Given the description of an element on the screen output the (x, y) to click on. 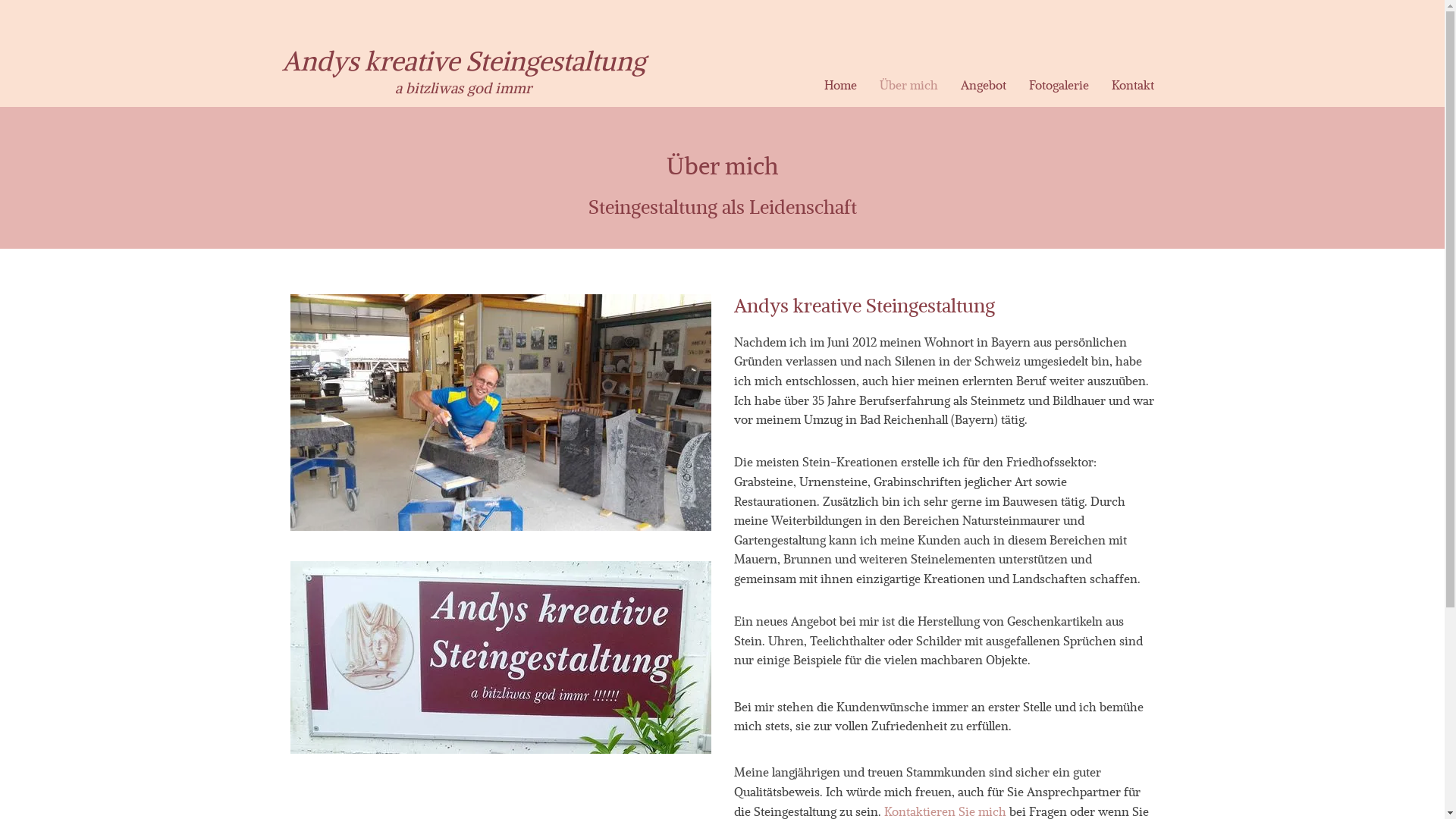
Andys kreative Steingestaltung Element type: text (463, 60)
Angebot Element type: text (983, 84)
Kontakt Element type: text (1132, 84)
Fotogalerie Element type: text (1058, 84)
Home Element type: text (840, 84)
